Given the description of an element on the screen output the (x, y) to click on. 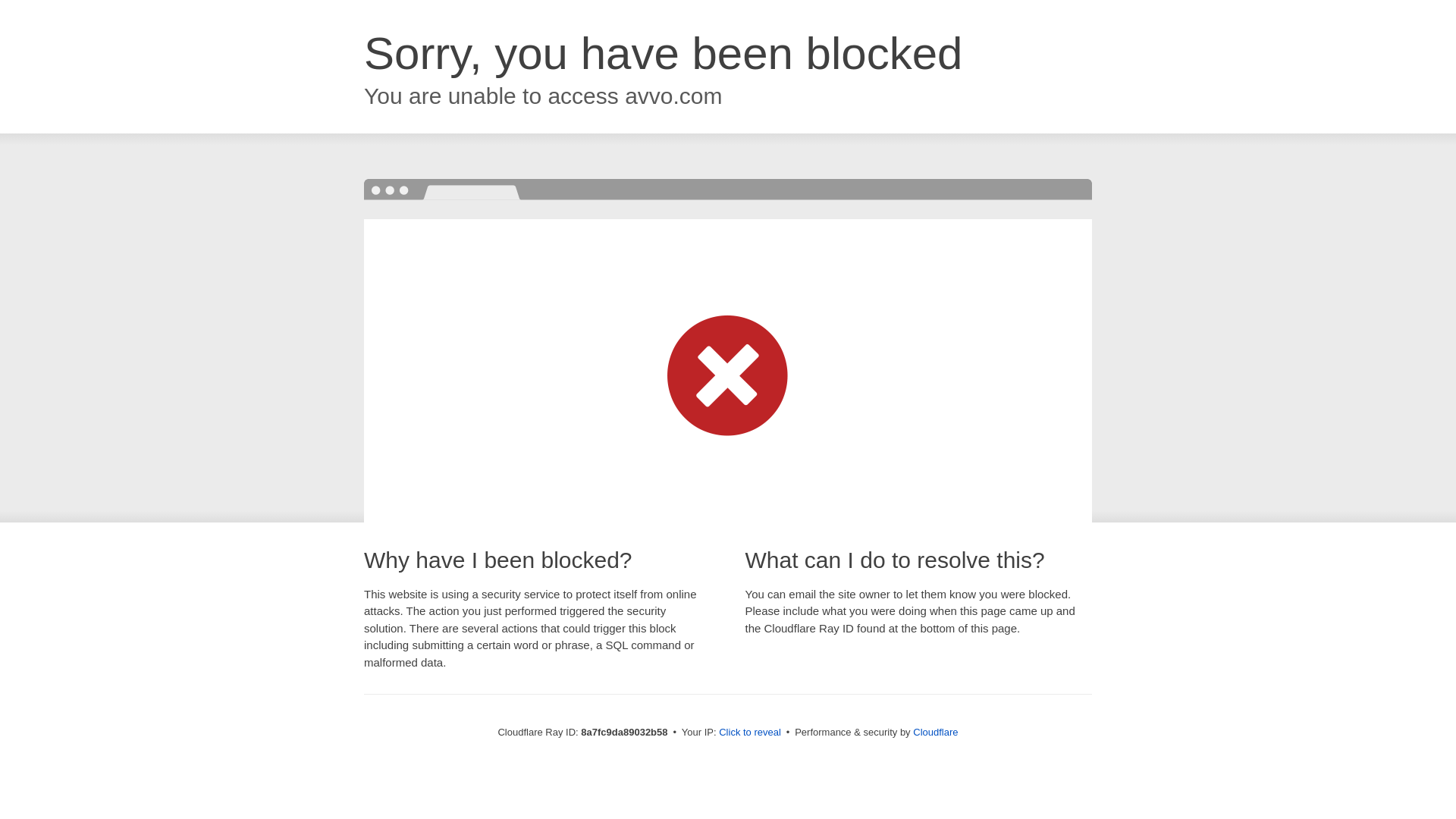
Click to reveal (749, 732)
Cloudflare (935, 731)
